Given the description of an element on the screen output the (x, y) to click on. 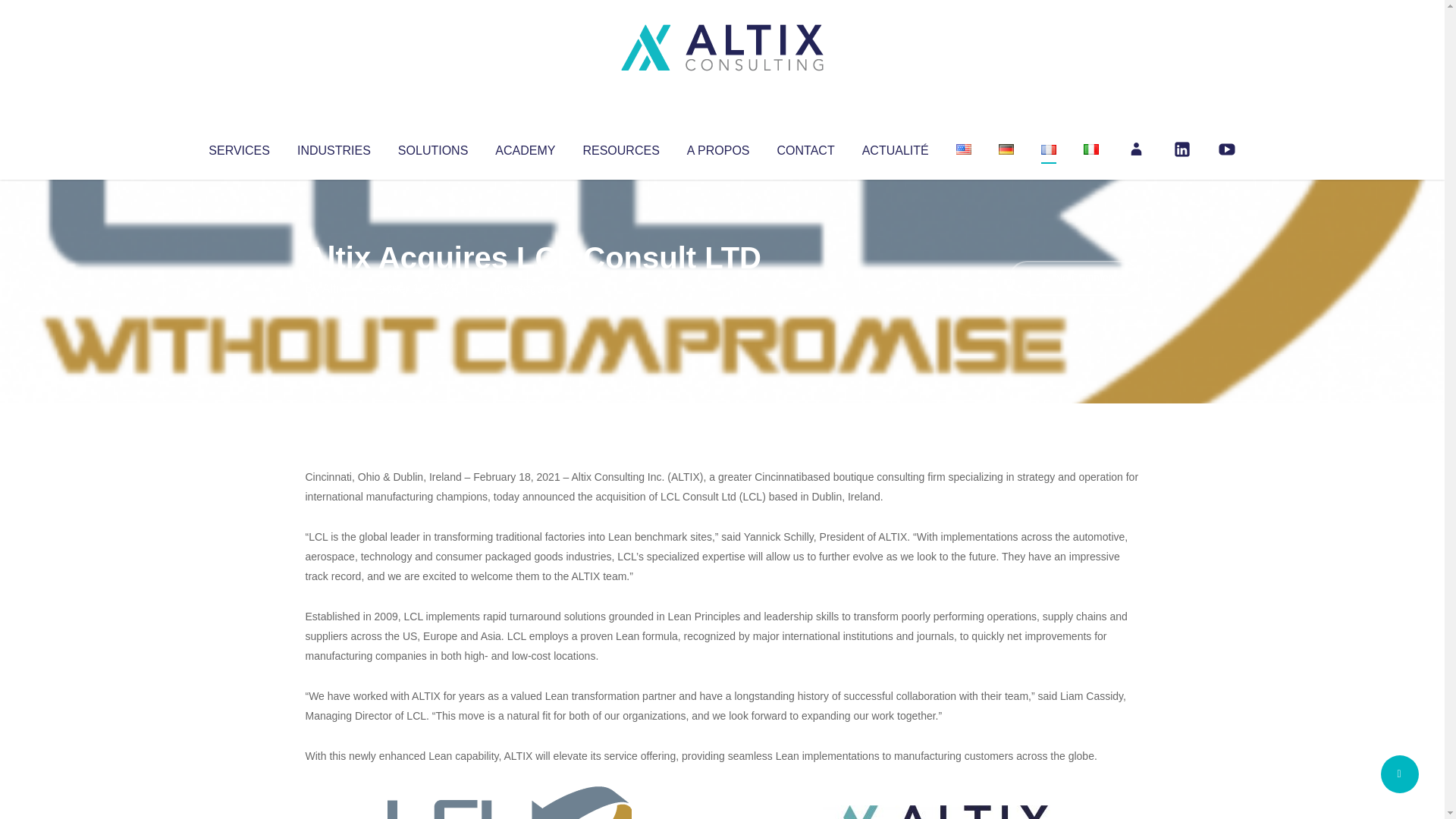
Articles par Altix (333, 287)
SERVICES (238, 146)
A PROPOS (718, 146)
Uncategorized (530, 287)
SOLUTIONS (432, 146)
INDUSTRIES (334, 146)
ACADEMY (524, 146)
No Comments (1073, 278)
RESOURCES (620, 146)
Altix (333, 287)
